Given the description of an element on the screen output the (x, y) to click on. 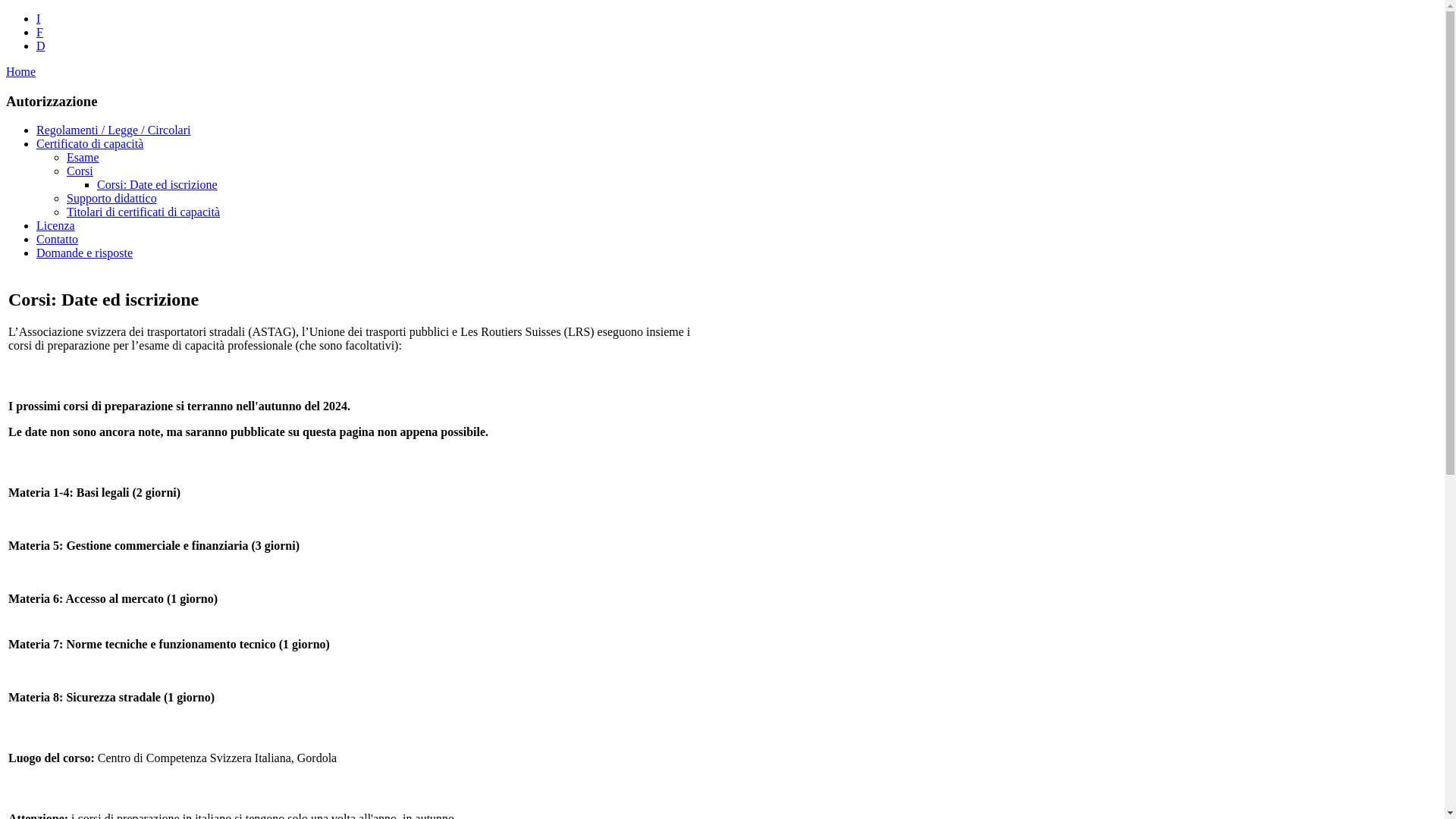
Corsi: Date ed iscrizione Element type: text (157, 184)
Contatto Element type: text (57, 238)
Supporto didattico Element type: text (111, 197)
Home Element type: text (20, 71)
Regolamenti / Legge / Circolari Element type: text (113, 129)
Esame Element type: text (82, 156)
Licenza Element type: text (55, 225)
Domande e risposte Element type: text (84, 252)
D Element type: text (40, 45)
I Element type: text (38, 18)
Corsi Element type: text (79, 170)
F Element type: text (39, 31)
